Given the description of an element on the screen output the (x, y) to click on. 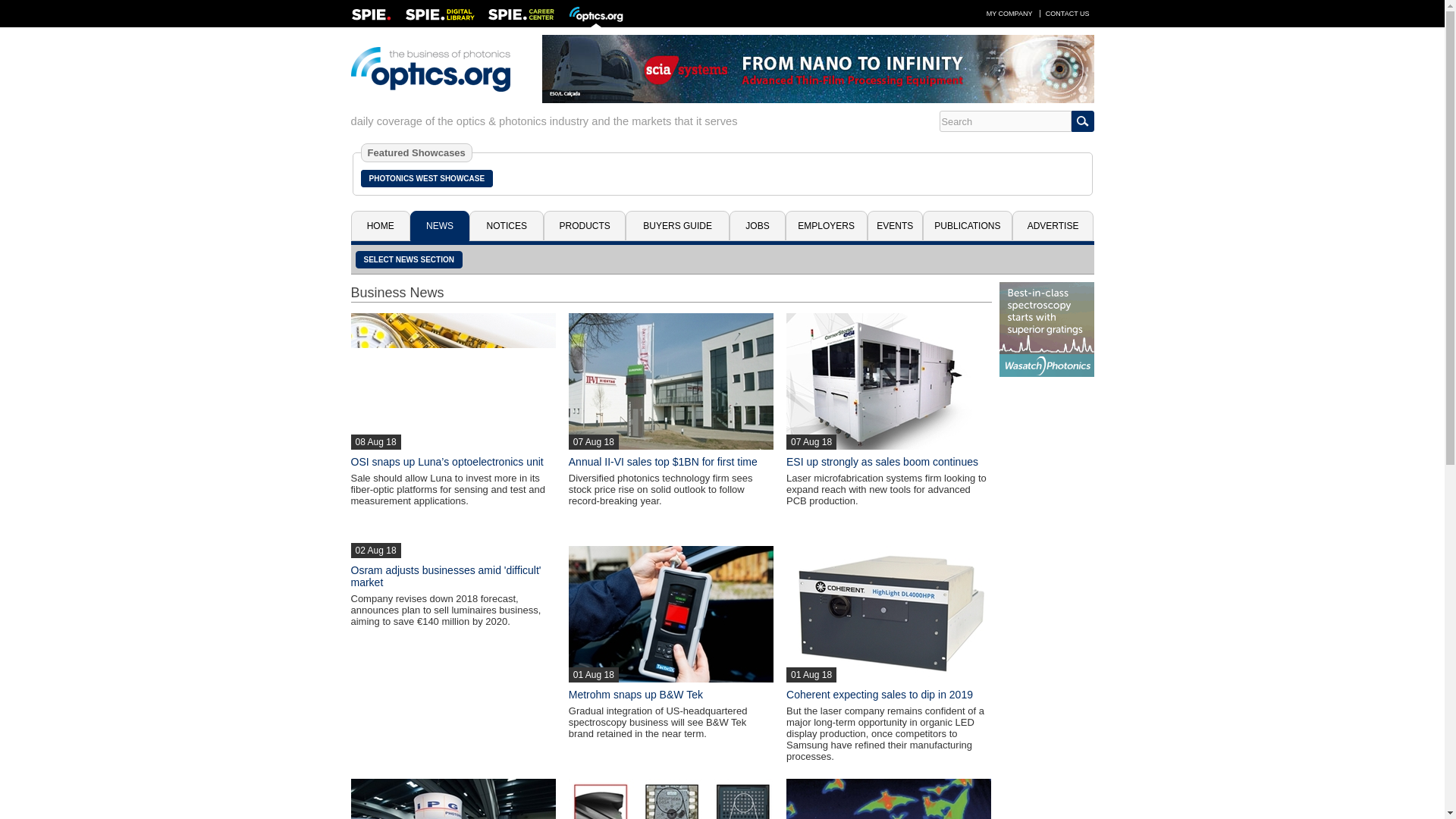
HOME (379, 225)
PRODUCTS (584, 225)
CONTACT US (1067, 13)
NOTICES (505, 225)
PHOTONICS WEST SHOWCASE (427, 178)
JOBS (757, 225)
NEWS (439, 225)
Search (1004, 120)
BUYERS GUIDE (677, 225)
MY COMPANY (1008, 13)
